Given the description of an element on the screen output the (x, y) to click on. 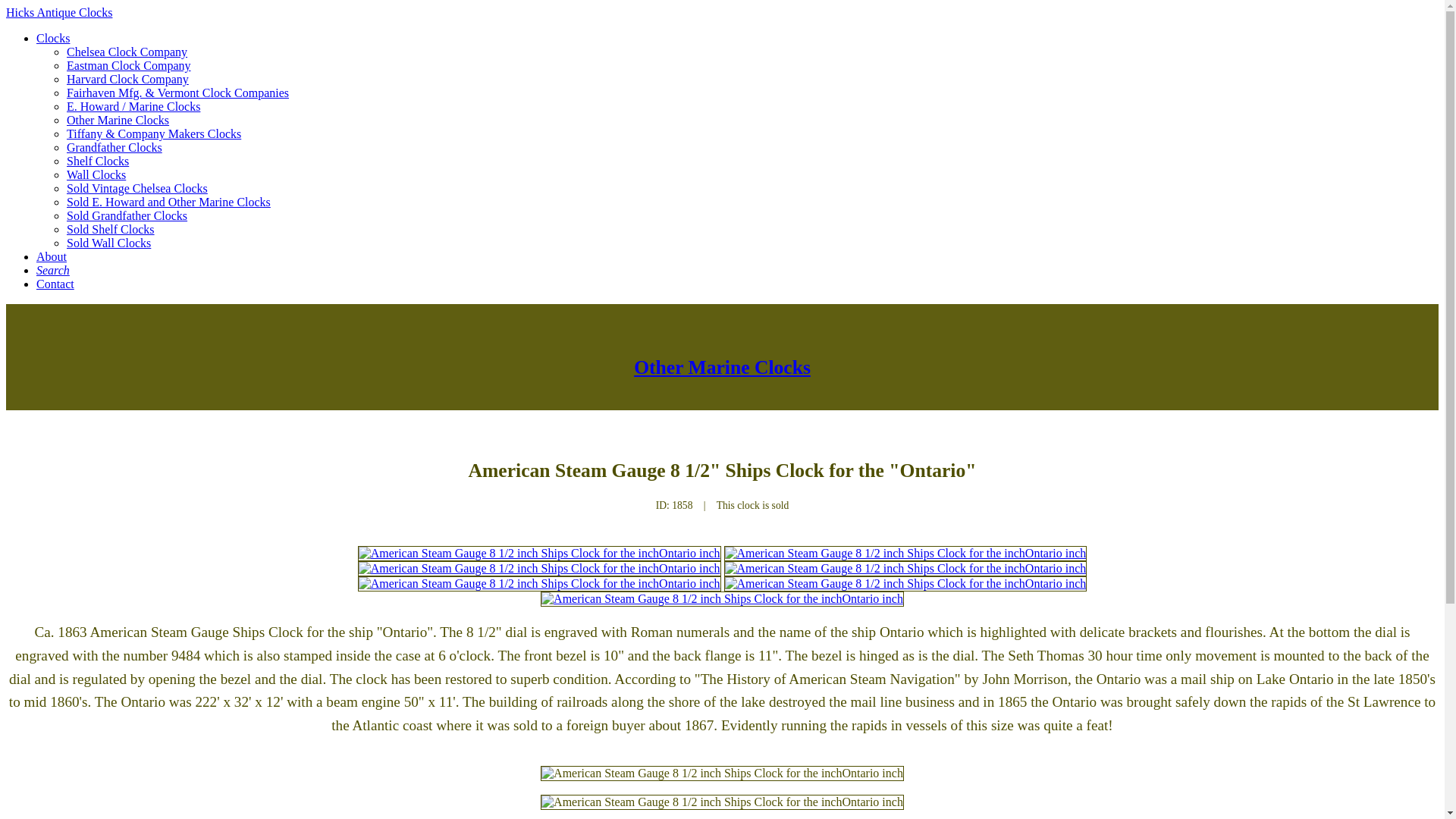
Other Marine Clocks (117, 119)
Harvard Clock Company (127, 78)
Search (52, 269)
Shelf Clocks (97, 160)
Other Marine Clocks (721, 367)
Eastman Clock Company (128, 65)
Sold Grandfather Clocks (126, 215)
Sold E. Howard and Other Marine Clocks (168, 201)
Hicks Antique Clocks (58, 11)
Grandfather Clocks (113, 146)
